Given the description of an element on the screen output the (x, y) to click on. 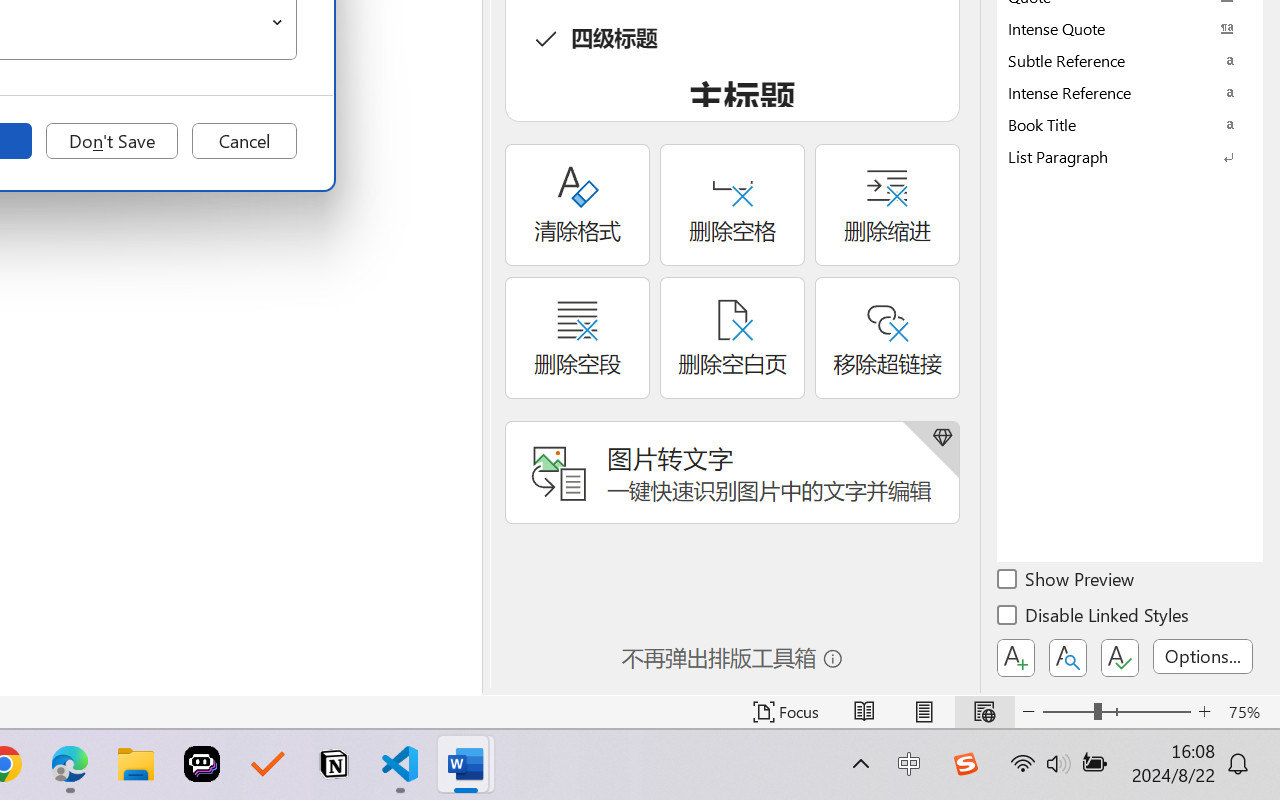
Zoom (1116, 712)
Intense Reference (1130, 92)
Disable Linked Styles (1094, 618)
Poe (201, 764)
Print Layout (924, 712)
Zoom In (1204, 712)
Subtle Reference (1130, 60)
